Given the description of an element on the screen output the (x, y) to click on. 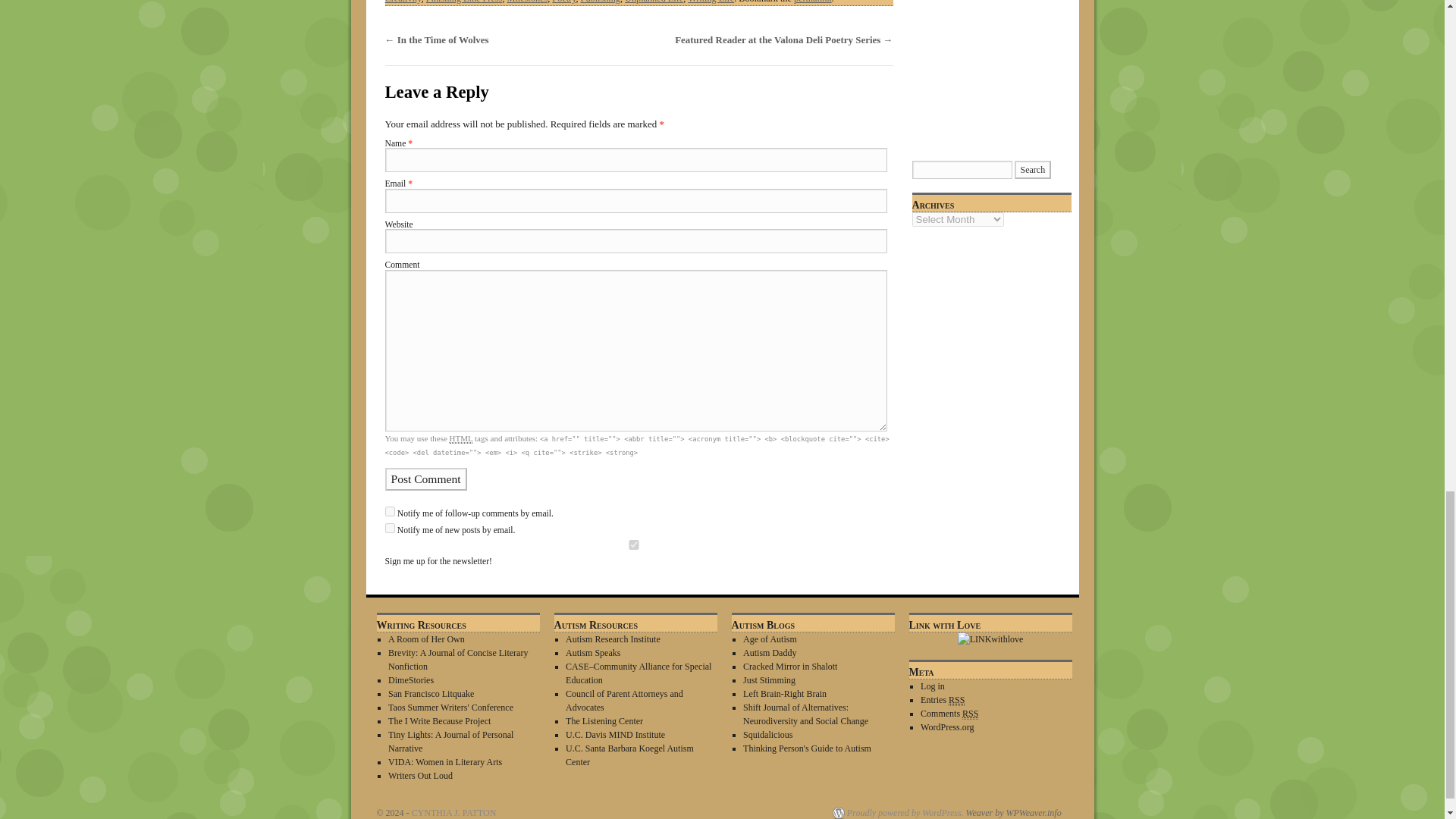
subscribe (389, 510)
Search (1032, 169)
1 (634, 543)
Post Comment (426, 478)
subscribe (389, 527)
